Given the description of an element on the screen output the (x, y) to click on. 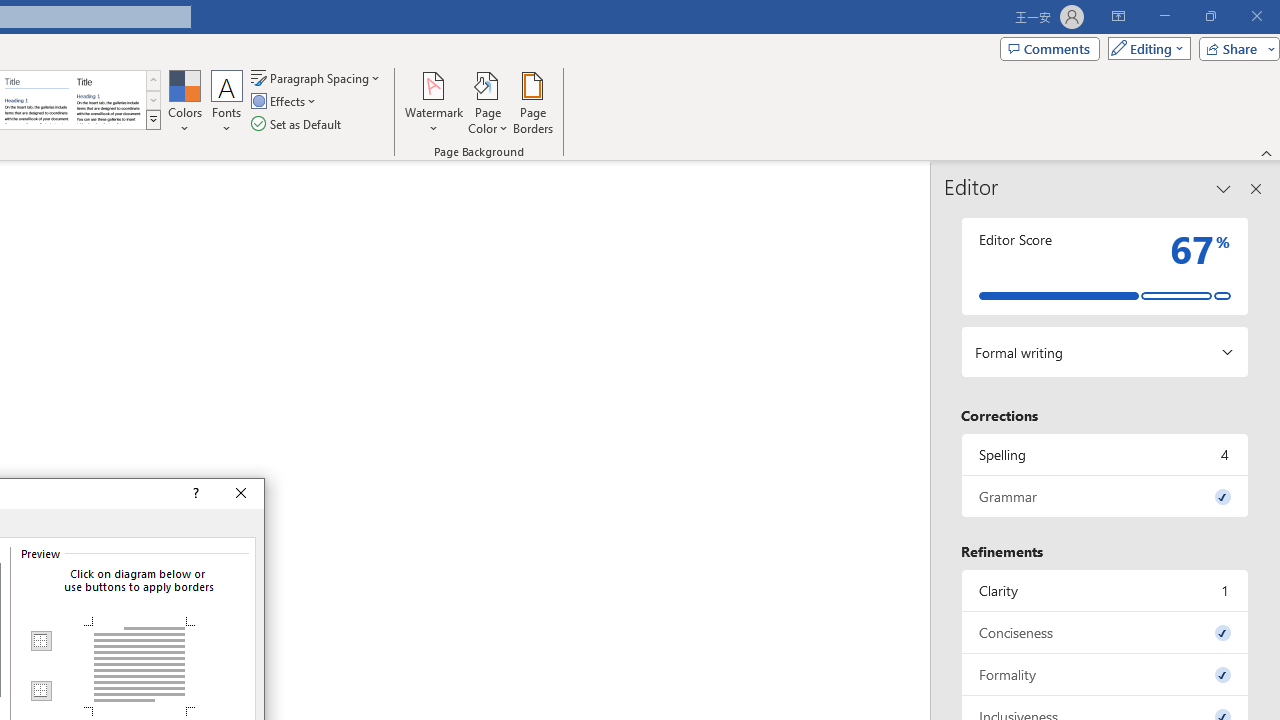
Word 2013 (108, 100)
Fonts (227, 102)
Effects (285, 101)
Row up (153, 79)
Page Borders... (532, 102)
